Given the description of an element on the screen output the (x, y) to click on. 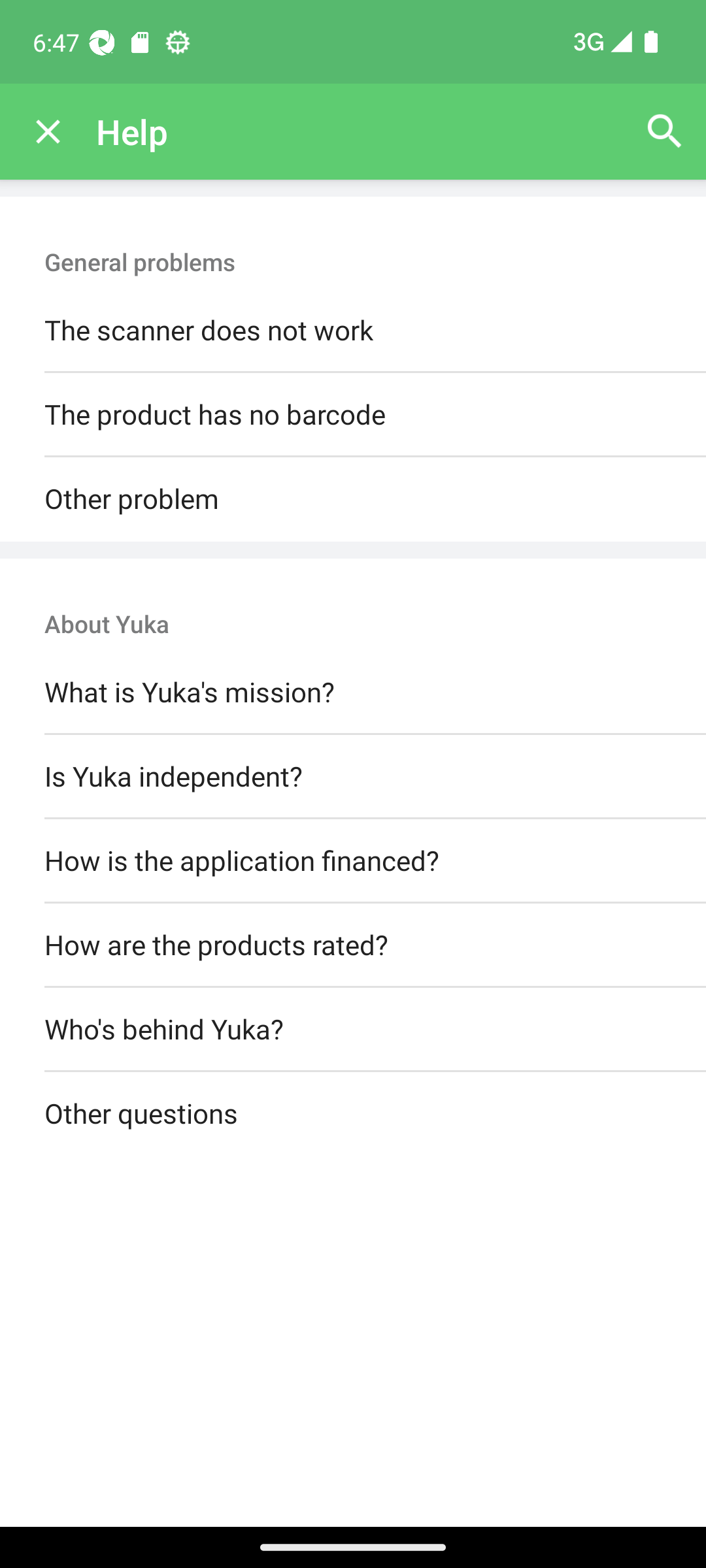
Search (664, 131)
The scanner does not work (353, 330)
The product has no barcode (353, 415)
Other problem (353, 498)
What is Yuka's mission? (353, 692)
Is Yuka independent? (353, 776)
How is the application financed? (353, 860)
How are the products rated? (353, 945)
Who's behind Yuka? (353, 1029)
Other questions (353, 1114)
